Given the description of an element on the screen output the (x, y) to click on. 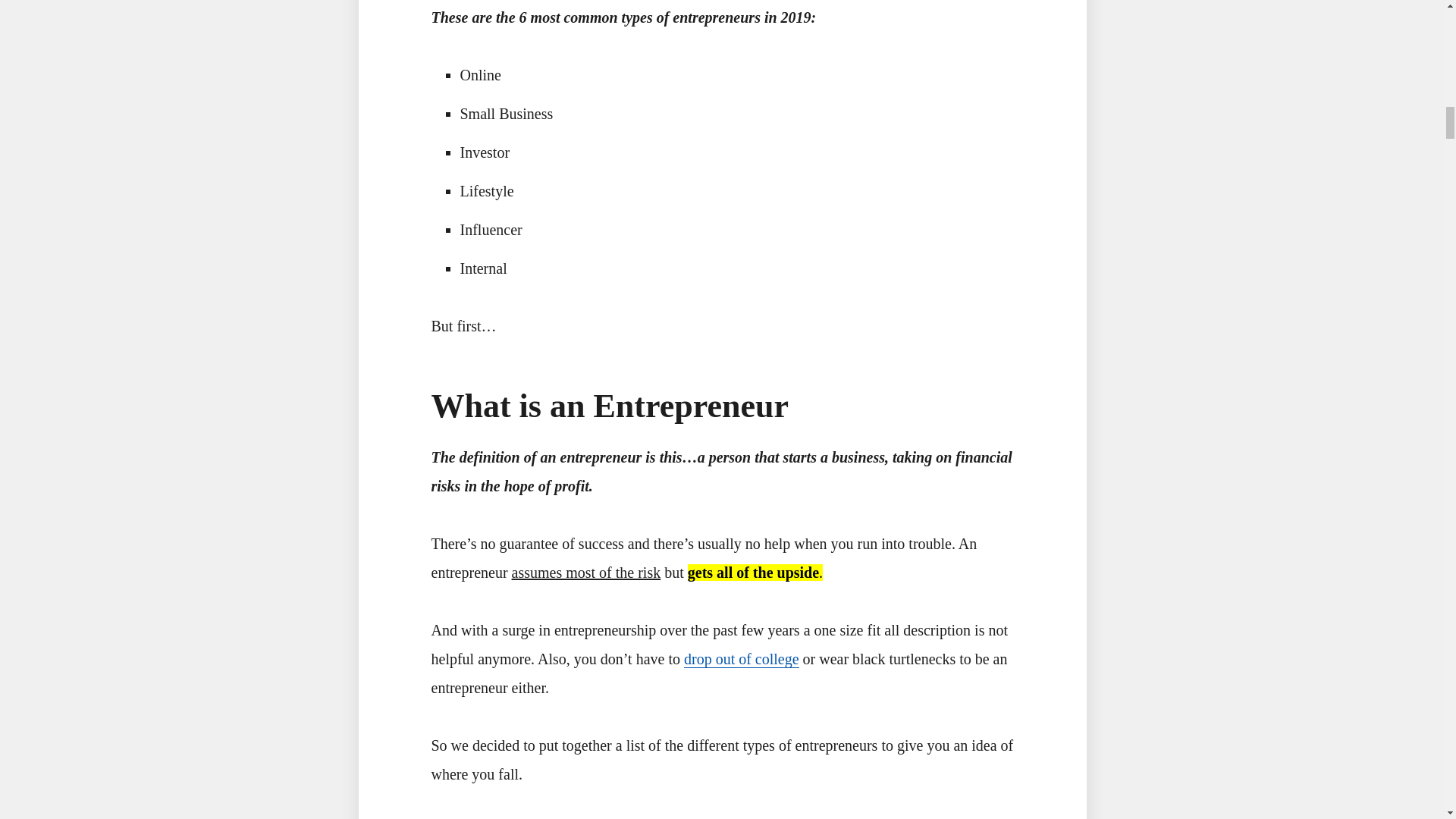
drop out of college (741, 659)
